Given the description of an element on the screen output the (x, y) to click on. 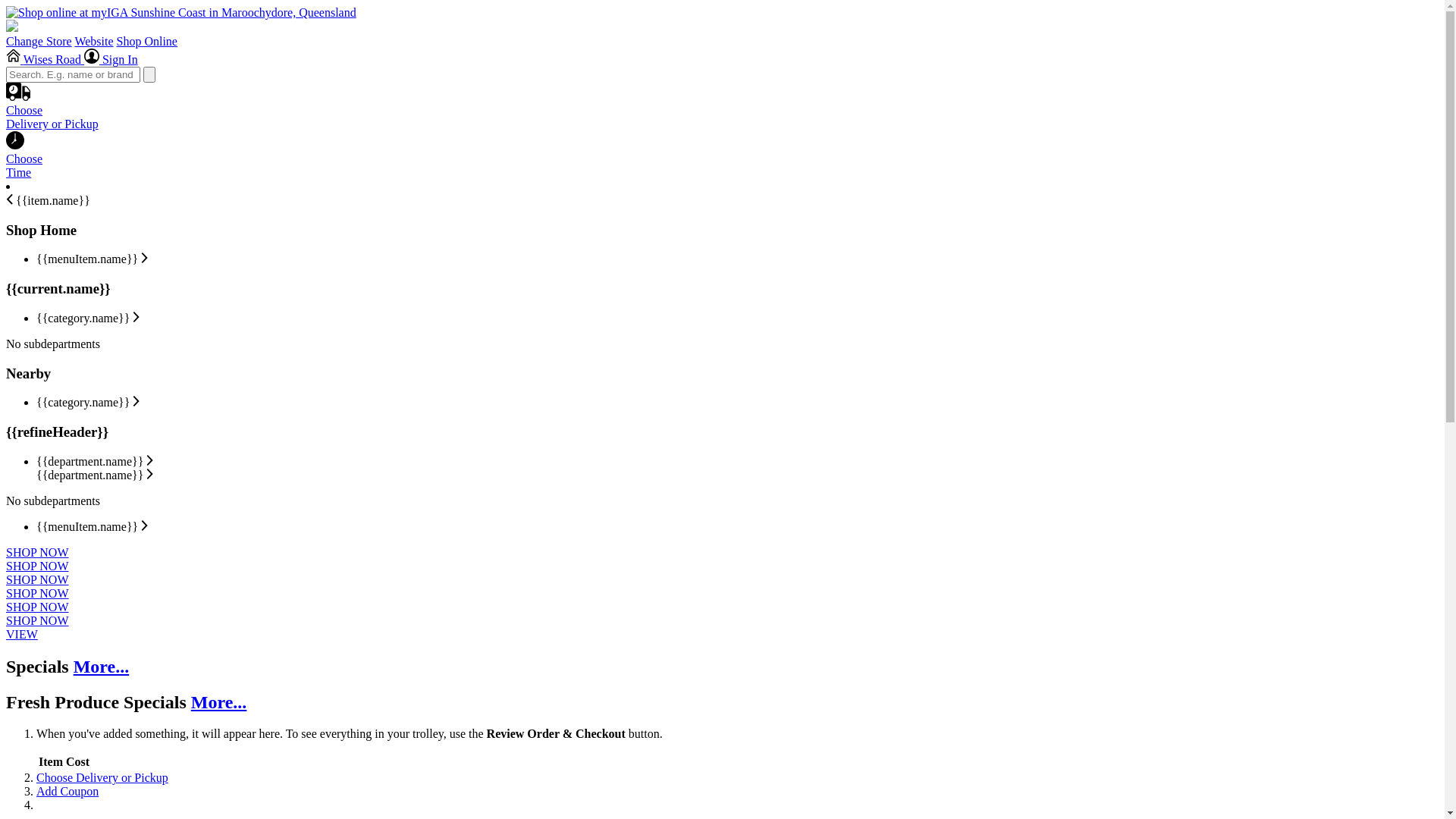
More... Element type: text (219, 702)
SHOP NOW Element type: text (37, 579)
Choose
Time Element type: text (722, 158)
Wises Road Element type: text (45, 59)
Search Element type: hover (149, 74)
Website Element type: text (93, 40)
SHOP NOW Element type: text (37, 565)
Choose
Delivery or Pickup Element type: text (722, 120)
More... Element type: text (101, 666)
Shop Online Element type: text (146, 40)
SHOP NOW Element type: text (37, 620)
Sign In Element type: text (111, 59)
VIEW Element type: text (21, 633)
SHOP NOW Element type: text (37, 606)
SHOP NOW Element type: text (37, 552)
Add Coupon Element type: text (67, 790)
Change Store Element type: text (39, 40)
Choose Delivery or Pickup Element type: text (102, 777)
SHOP NOW Element type: text (37, 592)
